Given the description of an element on the screen output the (x, y) to click on. 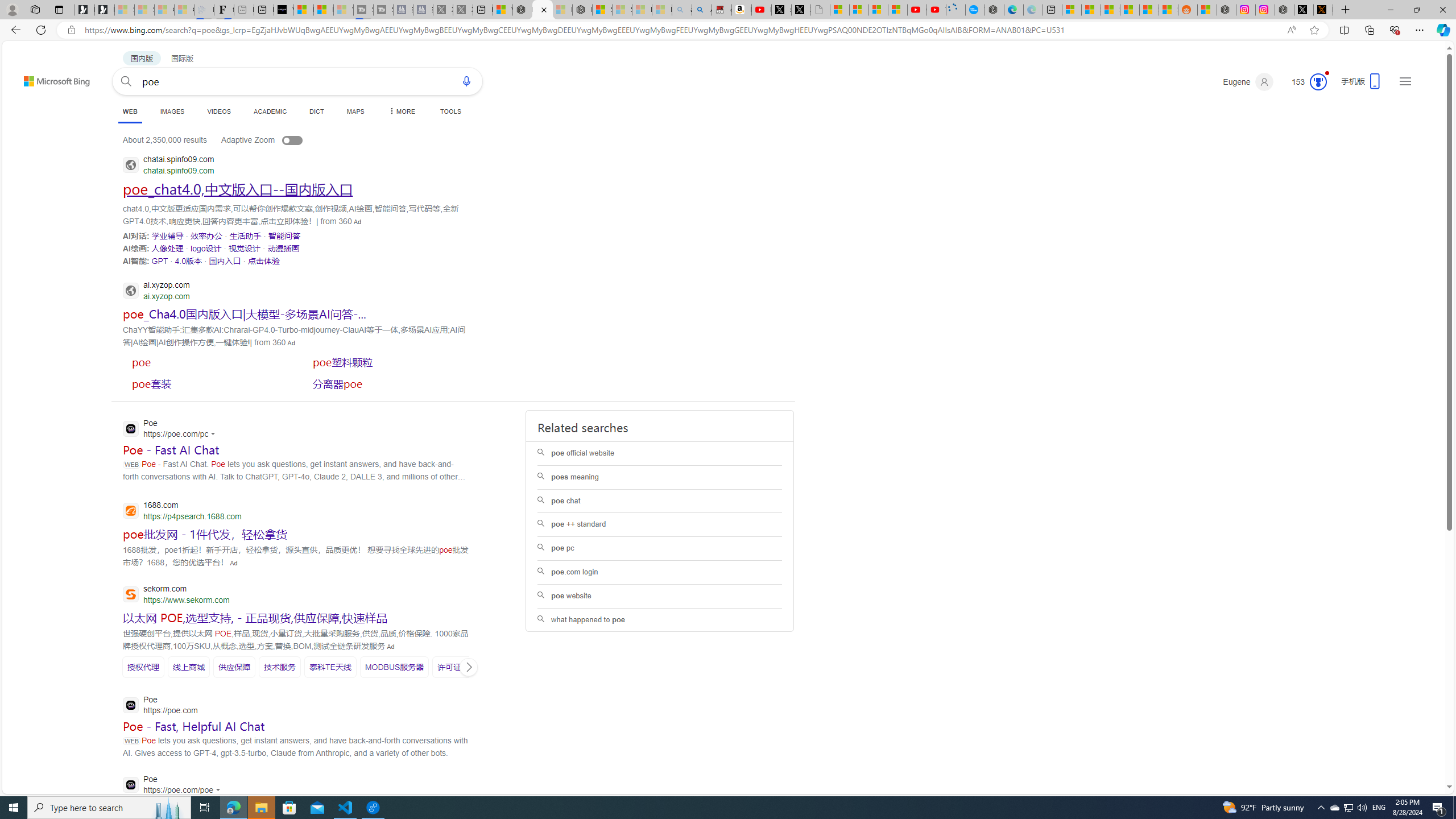
Day 1: Arriving in Yemen (surreal to be here) - YouTube (761, 9)
ACADEMIC (269, 111)
poe ++ standard (659, 524)
AutomationID: mfa_root (1406, 752)
Streaming Coverage | T3 - Sleeping (362, 9)
Refresh (40, 29)
SERP,5583 (207, 383)
Nordace - Summer Adventures 2024 (1283, 9)
X - Sleeping (462, 9)
SERP,5597 (234, 667)
MAPS (355, 111)
SERP,5570 (159, 260)
Address and search bar (680, 29)
